Given the description of an element on the screen output the (x, y) to click on. 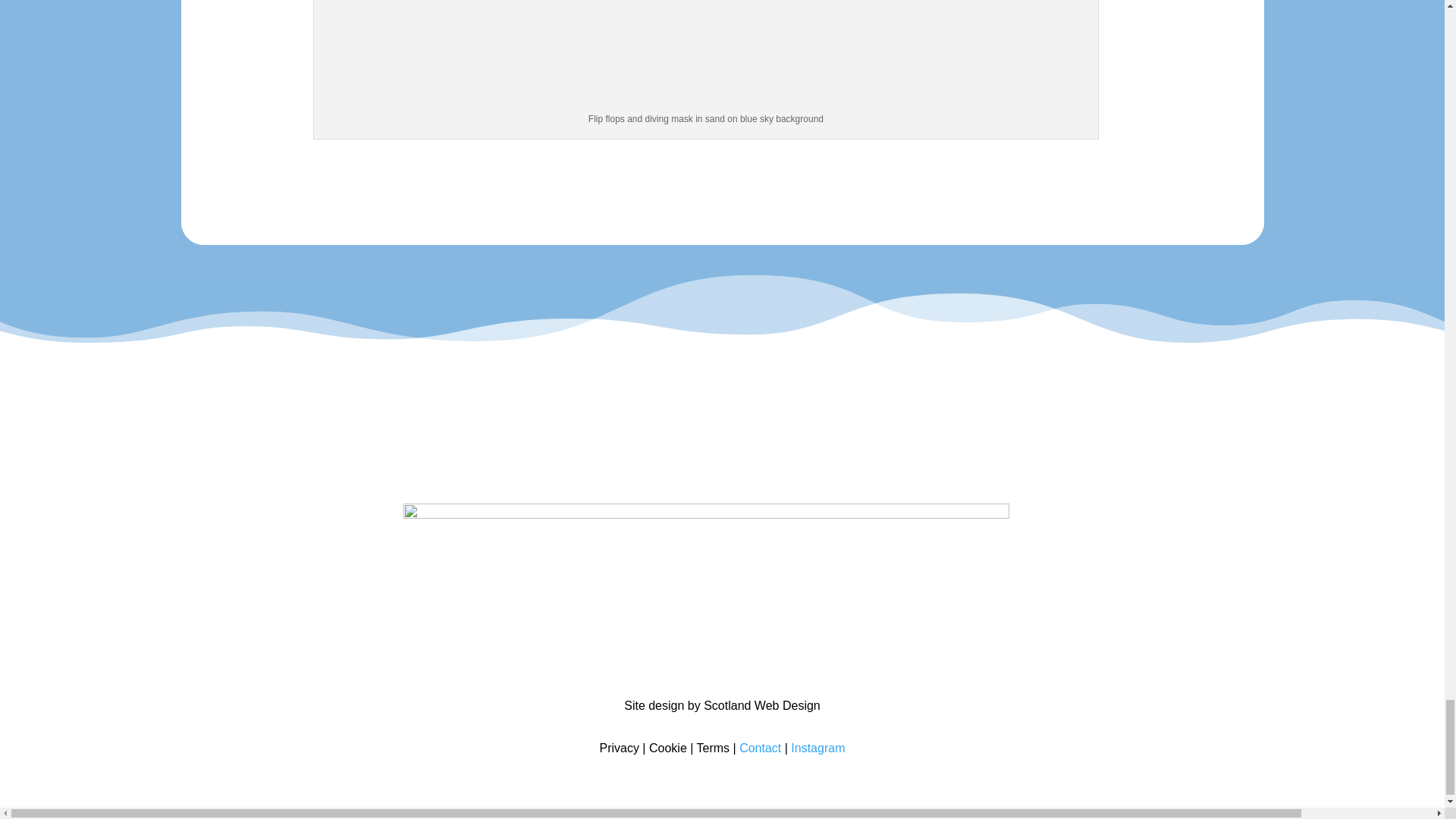
cropped-gran-canaria-logo.png (706, 584)
